Given the description of an element on the screen output the (x, y) to click on. 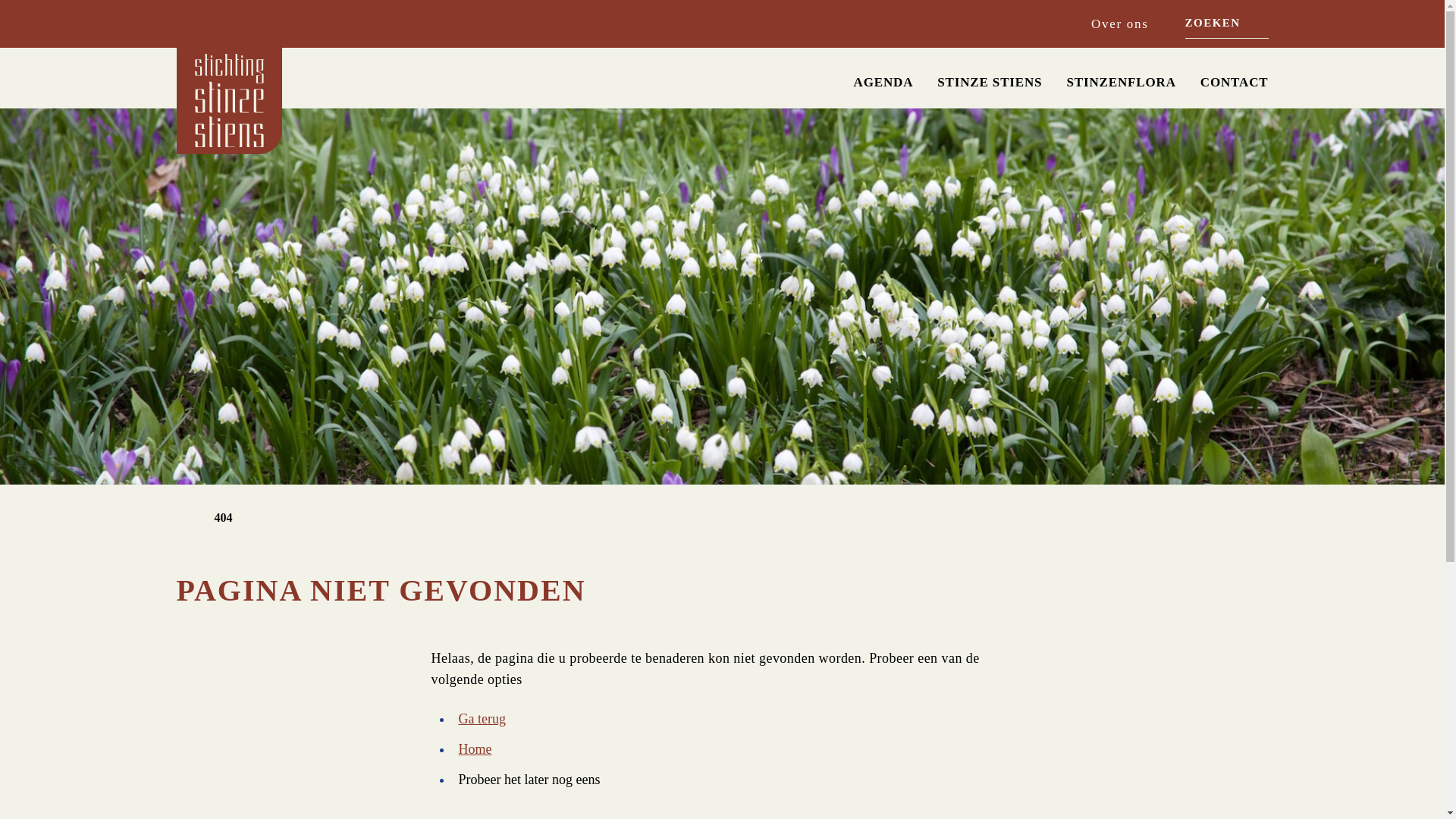
Over ons (1119, 24)
STINZE STIENS (989, 82)
AGENDA (883, 82)
Zoeken (1260, 23)
Ga terug (481, 718)
Home (475, 749)
STINZENFLORA (1119, 82)
HOME (812, 78)
CONTACT (1233, 82)
